Given the description of an element on the screen output the (x, y) to click on. 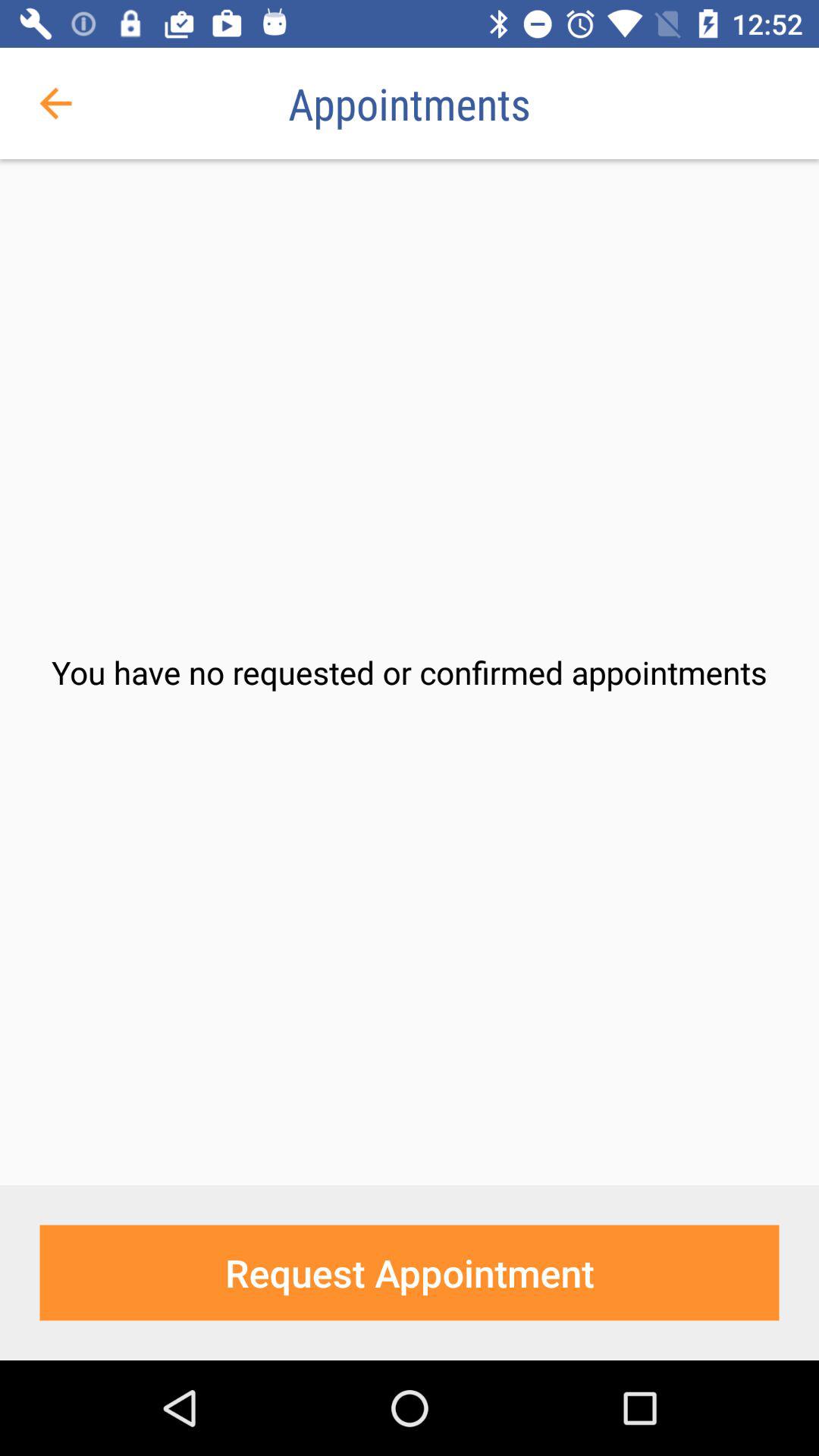
tap the request appointment item (409, 1272)
